Given the description of an element on the screen output the (x, y) to click on. 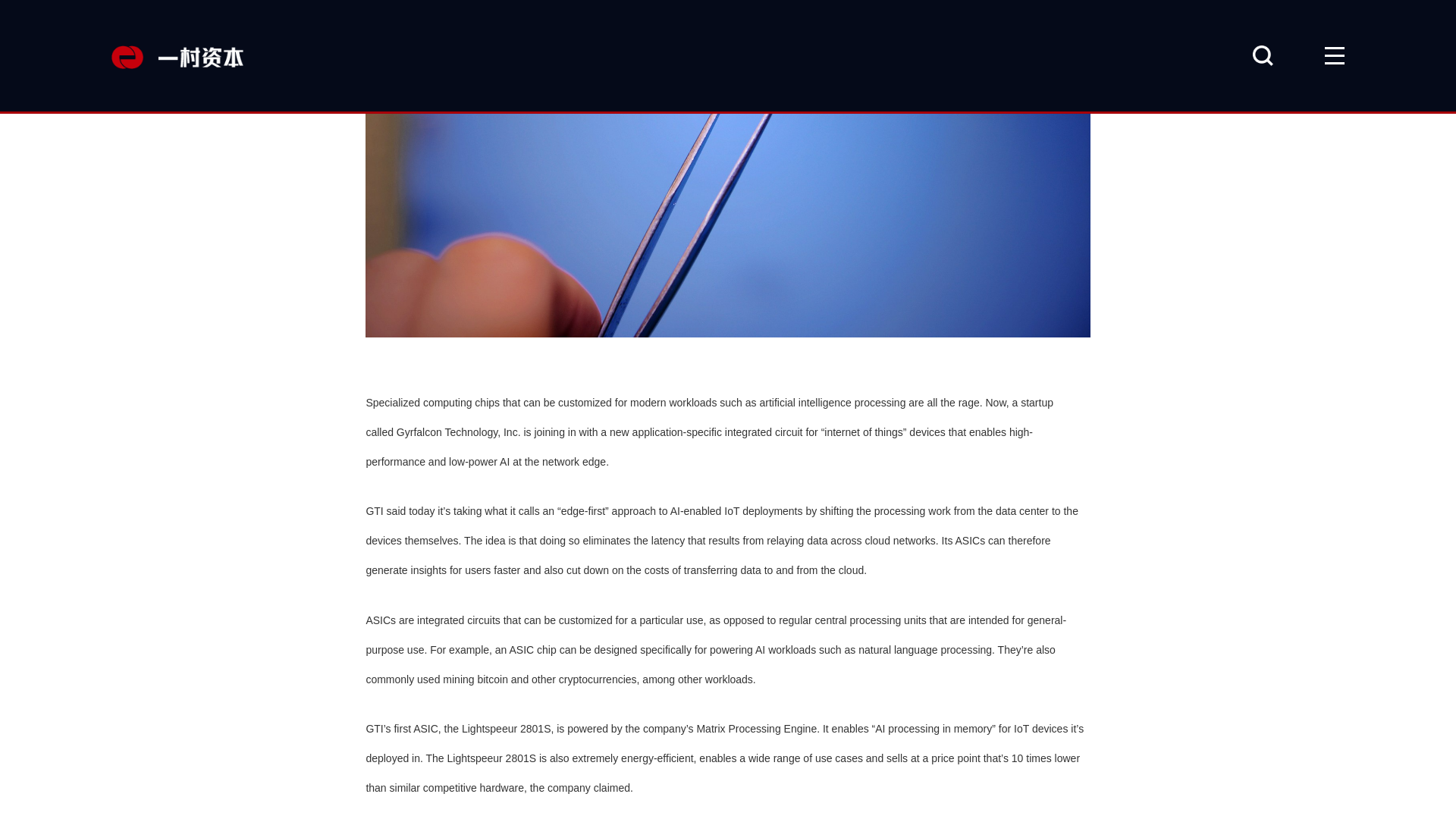
ASICs (380, 617)
the Lightspeeur 2801S (497, 725)
Gyrfalcon Technology, Inc. (458, 429)
